Given the description of an element on the screen output the (x, y) to click on. 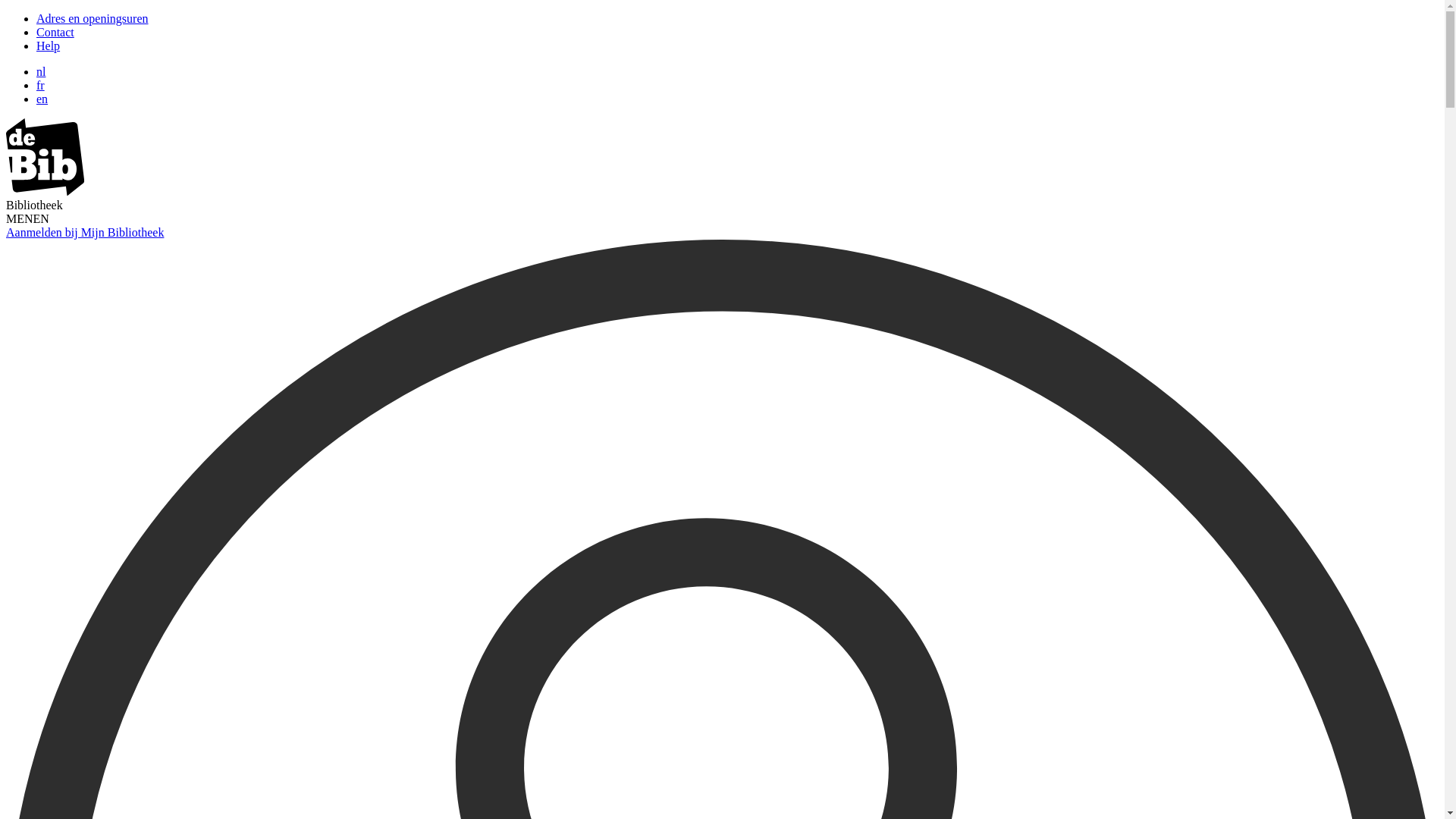
Adres en openingsuren Element type: text (92, 18)
en Element type: text (41, 98)
Contact Element type: text (55, 31)
Aanmelden bij Mijn Bibliotheek Element type: text (84, 231)
Help Element type: text (47, 45)
image/svg+xml Element type: text (45, 191)
Overslaan en naar zoeken gaan Element type: text (6, 12)
fr Element type: text (40, 84)
nl Element type: text (40, 71)
